Given the description of an element on the screen output the (x, y) to click on. 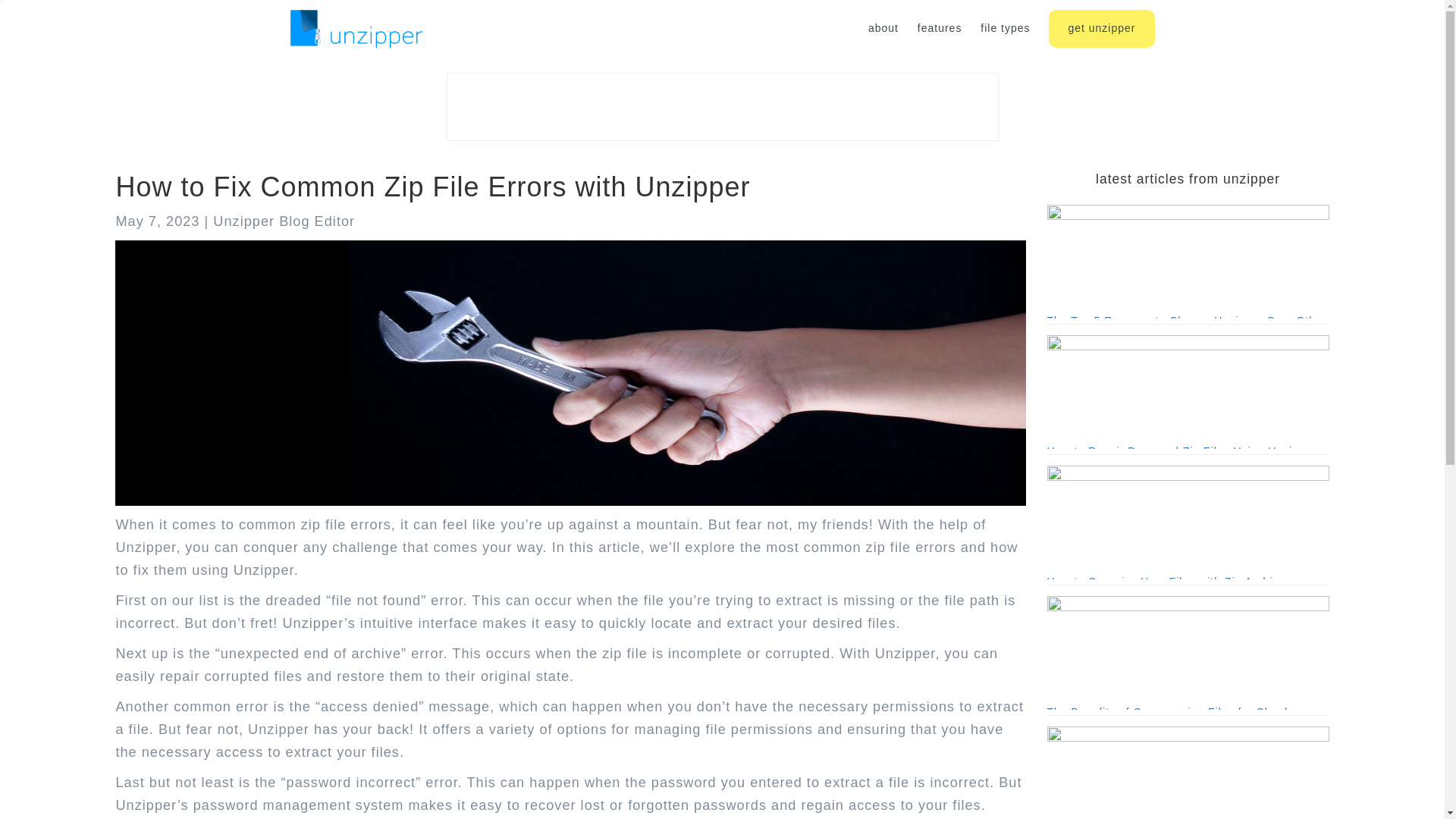
features (939, 28)
The Benefits of Compressing Files for Cloud Storage (1187, 653)
file types (1004, 28)
How to Repair Damaged Zip Files Using Unzipper (1187, 391)
get unzipper (1101, 28)
How to Use Unzipper to Create and Manage Zip Archives (1187, 772)
How to Organize Your Files with Zip Archives (1187, 522)
about (882, 28)
